Given the description of an element on the screen output the (x, y) to click on. 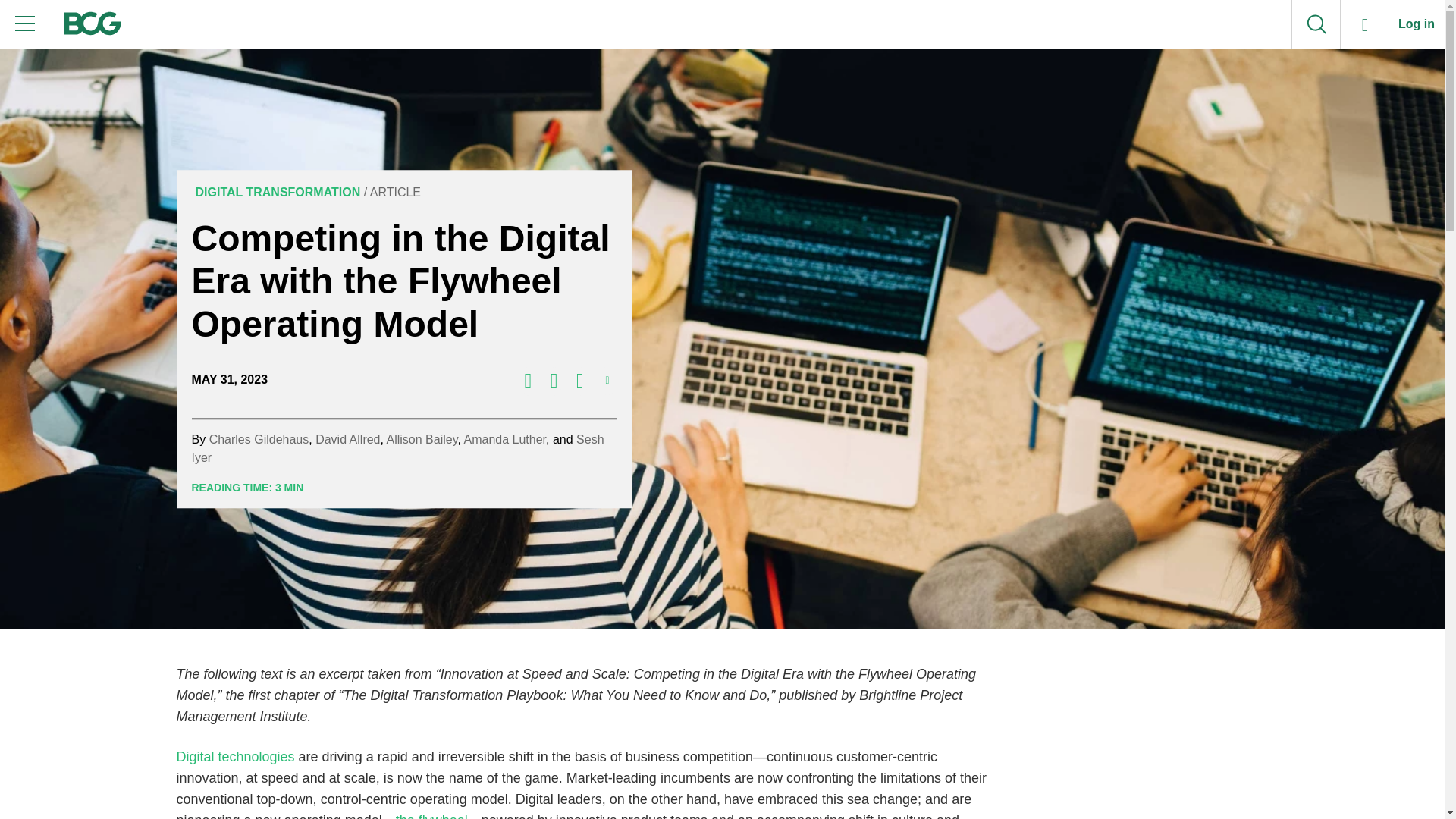
Sesh Iyer (397, 448)
David Allred (347, 439)
Charles Gildehaus (258, 439)
Digital technologies (235, 756)
DIGITAL TRANSFORMATION (274, 192)
Allison Bailey (422, 439)
Amanda Luther (505, 439)
Log in (1416, 24)
